Given the description of an element on the screen output the (x, y) to click on. 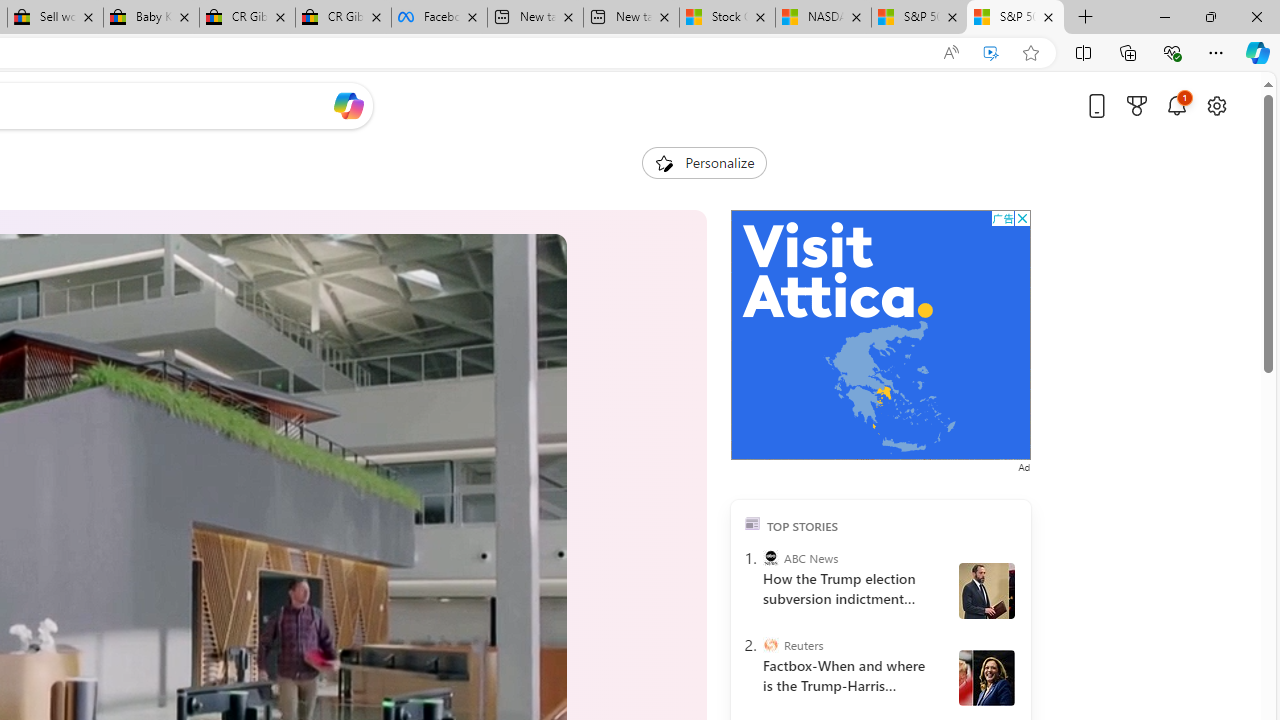
Personalize (703, 162)
Advertisement (879, 335)
